Given the description of an element on the screen output the (x, y) to click on. 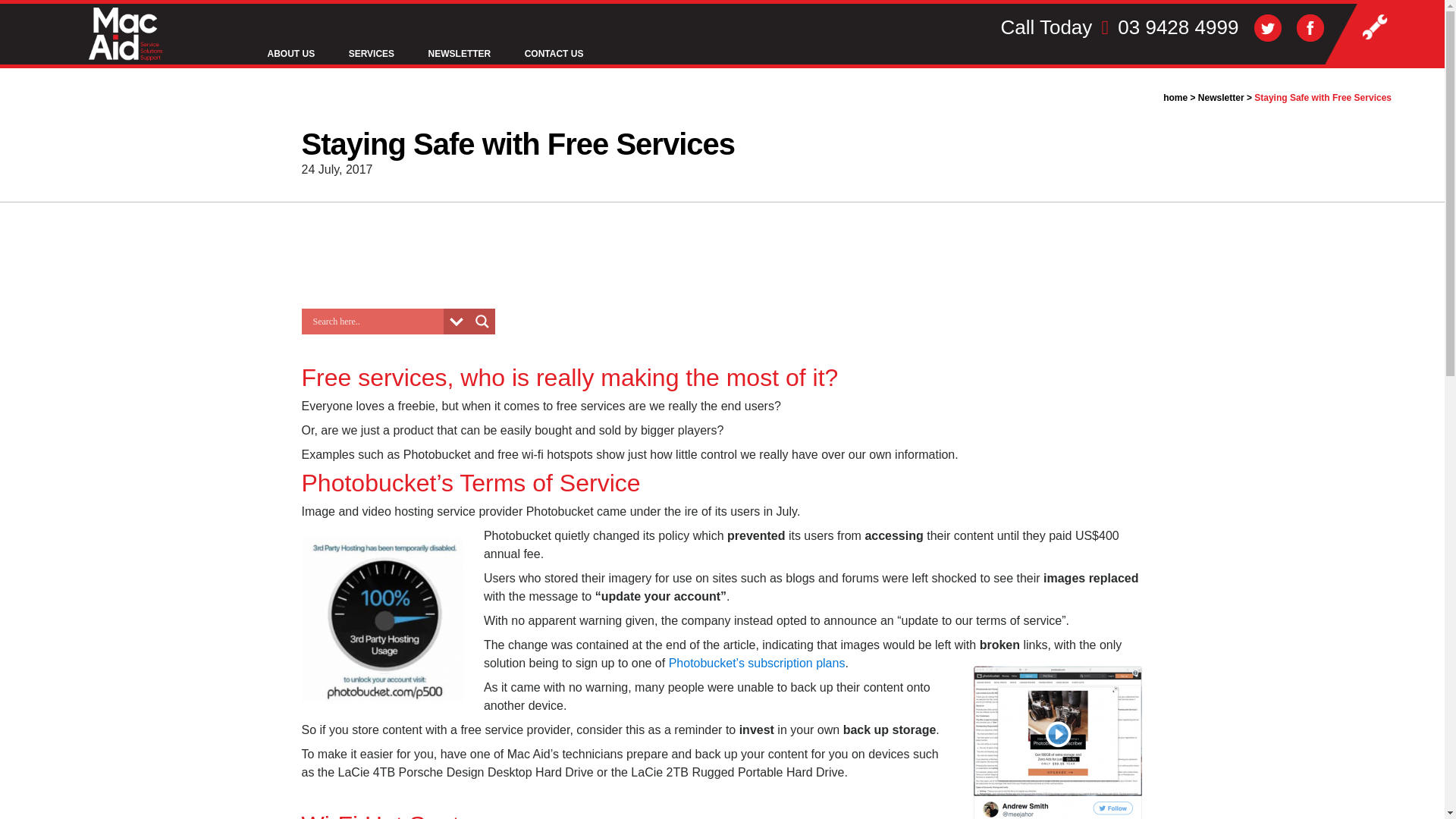
CONTACT US (553, 54)
SERVICES (371, 54)
Go to the Newsletter category archives. (1221, 97)
NEWSLETTER (459, 54)
home (1175, 97)
Newsletter (1221, 97)
ABOUT US (290, 54)
Go to Mac Aid. (1175, 97)
